Given the description of an element on the screen output the (x, y) to click on. 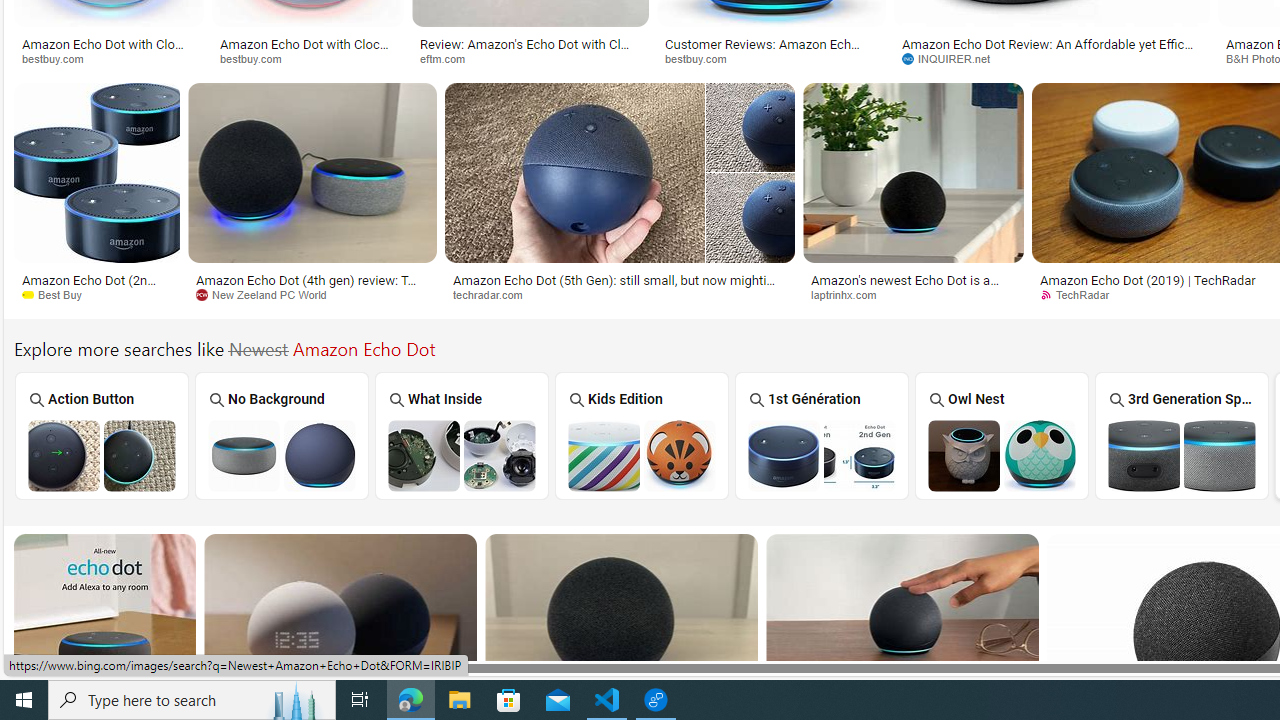
Action Button (101, 435)
Amazon Echo Dot 3rd Generation Speaker (1181, 455)
Amazon Echo Dot Kids Edition (641, 455)
Best Buy (96, 295)
eftm.com (530, 58)
laptrinhx.com (850, 294)
